Given the description of an element on the screen output the (x, y) to click on. 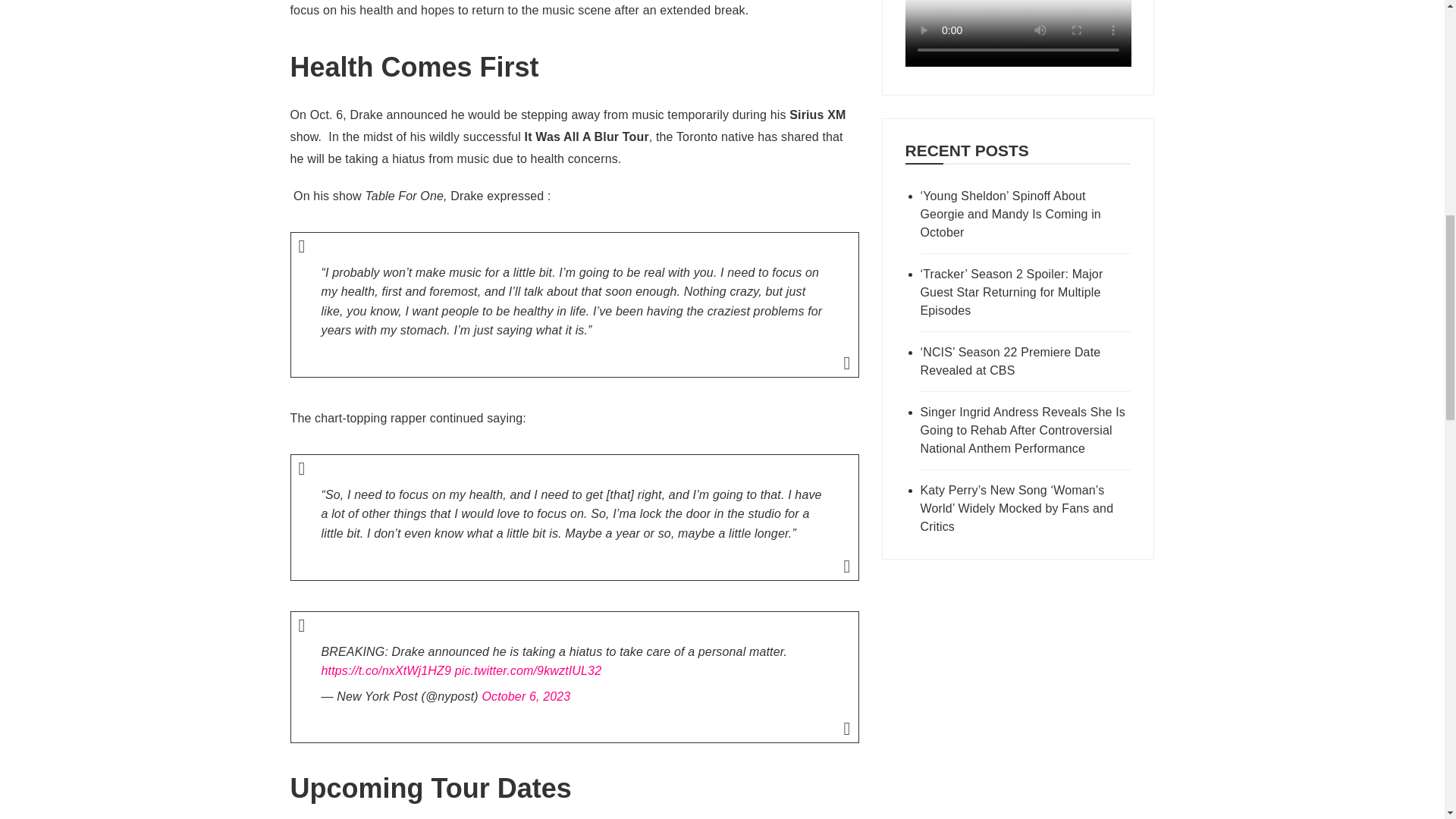
Follow on Facebook (1018, 62)
October 6, 2023 (525, 696)
